Given the description of an element on the screen output the (x, y) to click on. 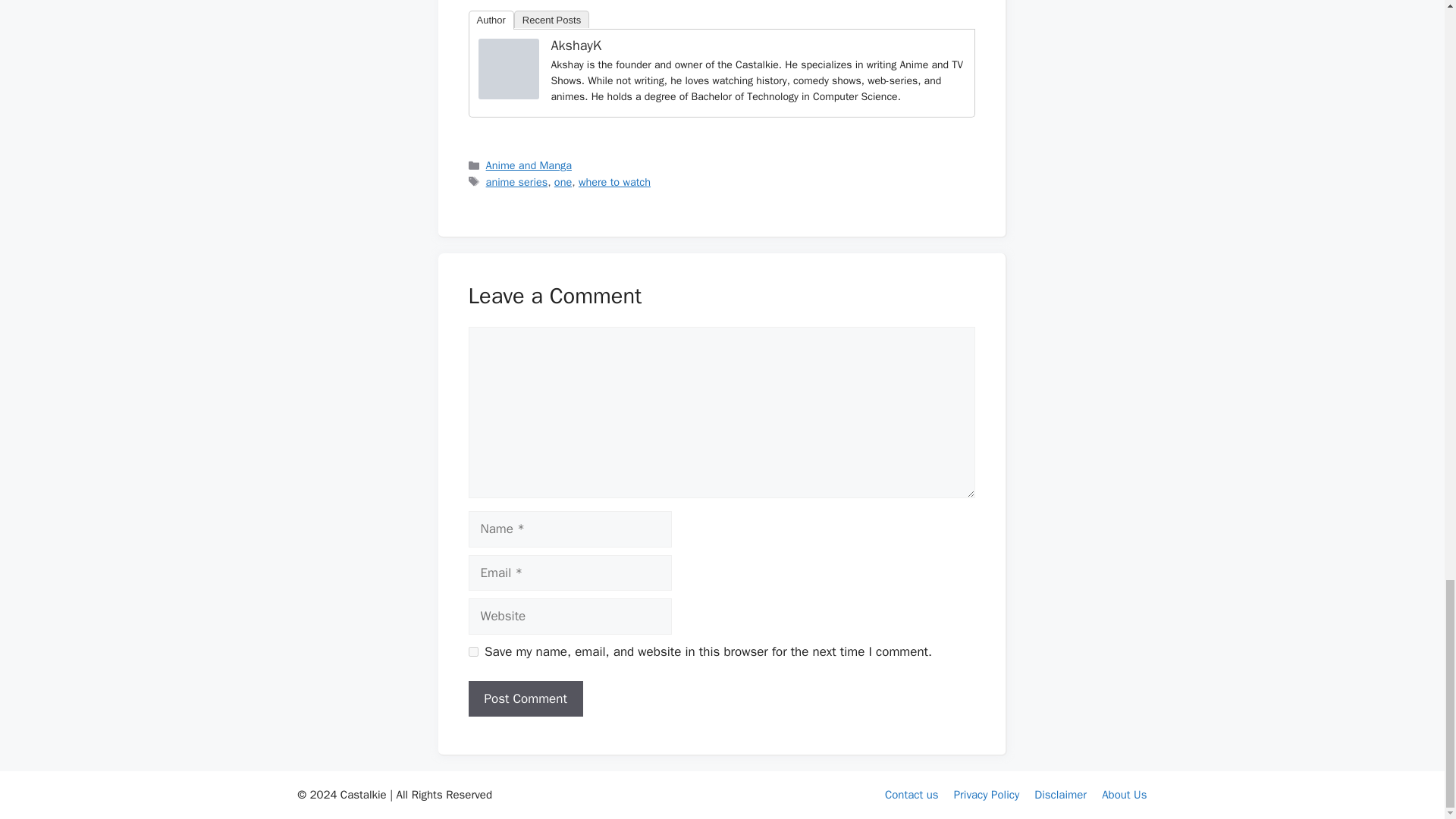
Privacy Policy (986, 794)
About Us (1124, 794)
Anime and Manga (529, 164)
Contact us (912, 794)
Post Comment (525, 698)
Post Comment (525, 698)
Disclaimer (1059, 794)
AkshayK (507, 94)
anime series (517, 182)
where to watch (614, 182)
AkshayK (575, 45)
Author (490, 19)
Recent Posts (551, 18)
one (563, 182)
yes (473, 651)
